Given the description of an element on the screen output the (x, y) to click on. 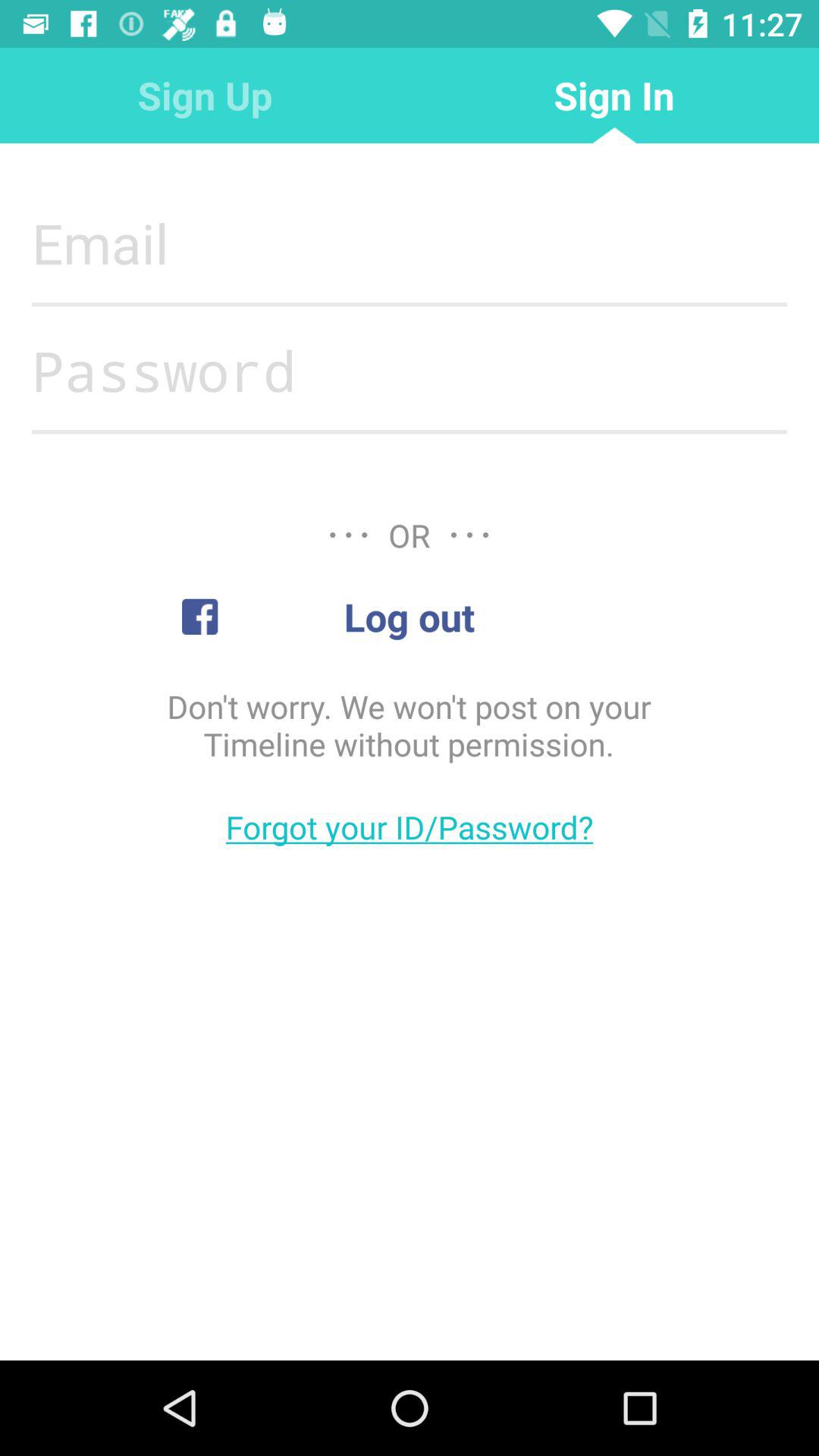
launch the icon to the left of sign in item (204, 95)
